Given the description of an element on the screen output the (x, y) to click on. 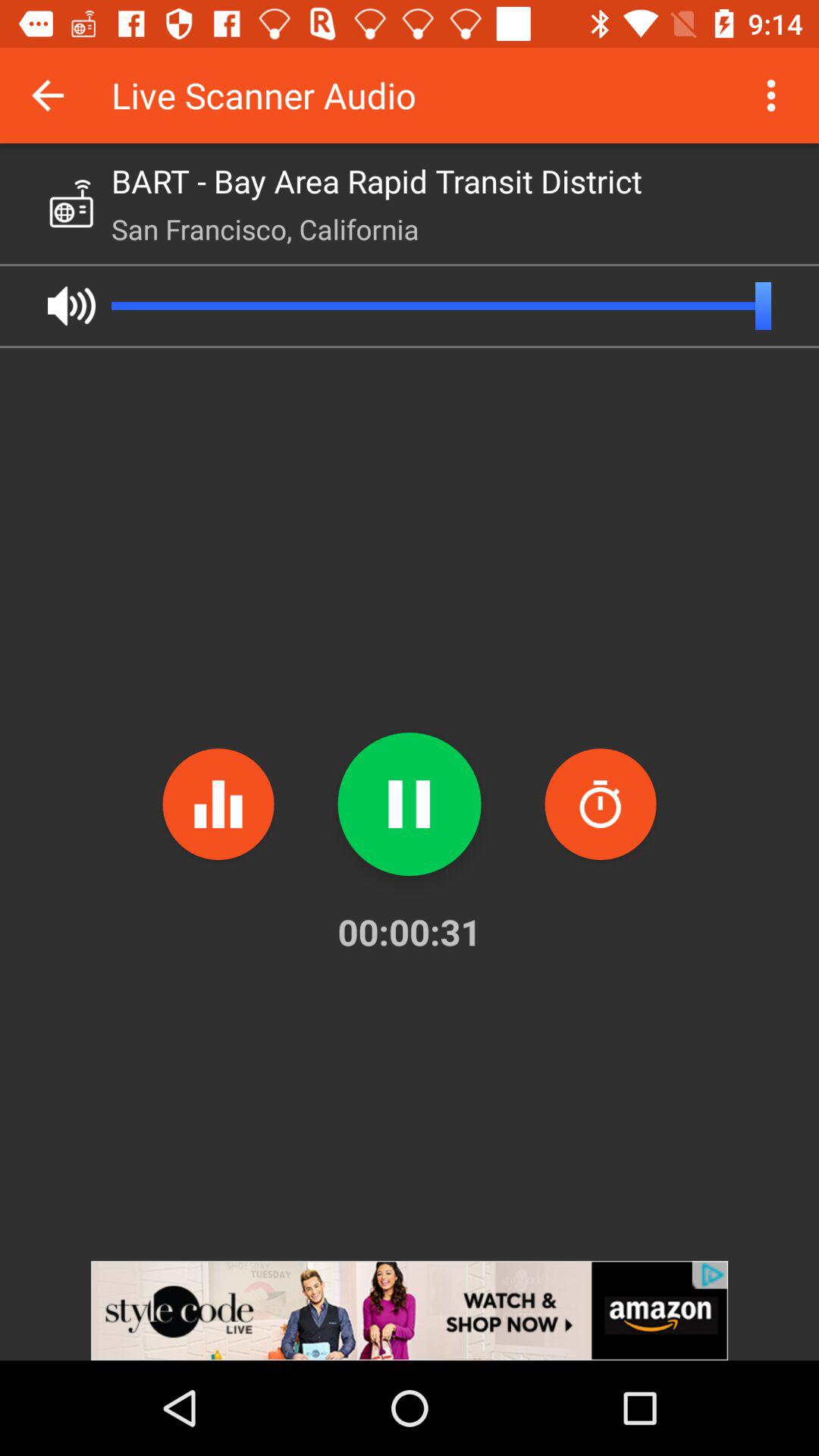
time option (600, 803)
